Given the description of an element on the screen output the (x, y) to click on. 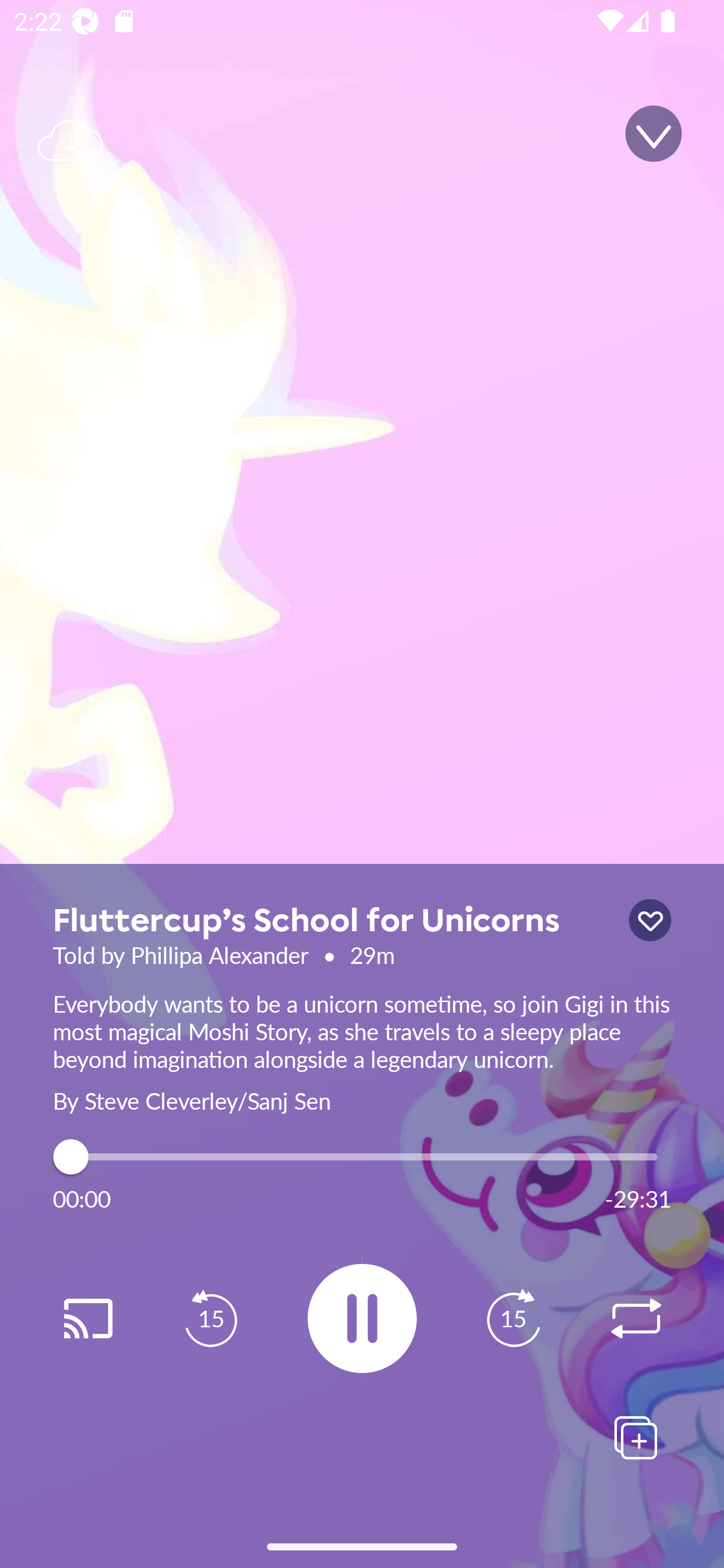
lock icon (650, 920)
5.129797E-4 Pause (361, 1317)
Replay (87, 1318)
Replay 15 (210, 1318)
Replay 15 (513, 1318)
Replay (635, 1318)
Add To Playlists (635, 1437)
